Given the description of an element on the screen output the (x, y) to click on. 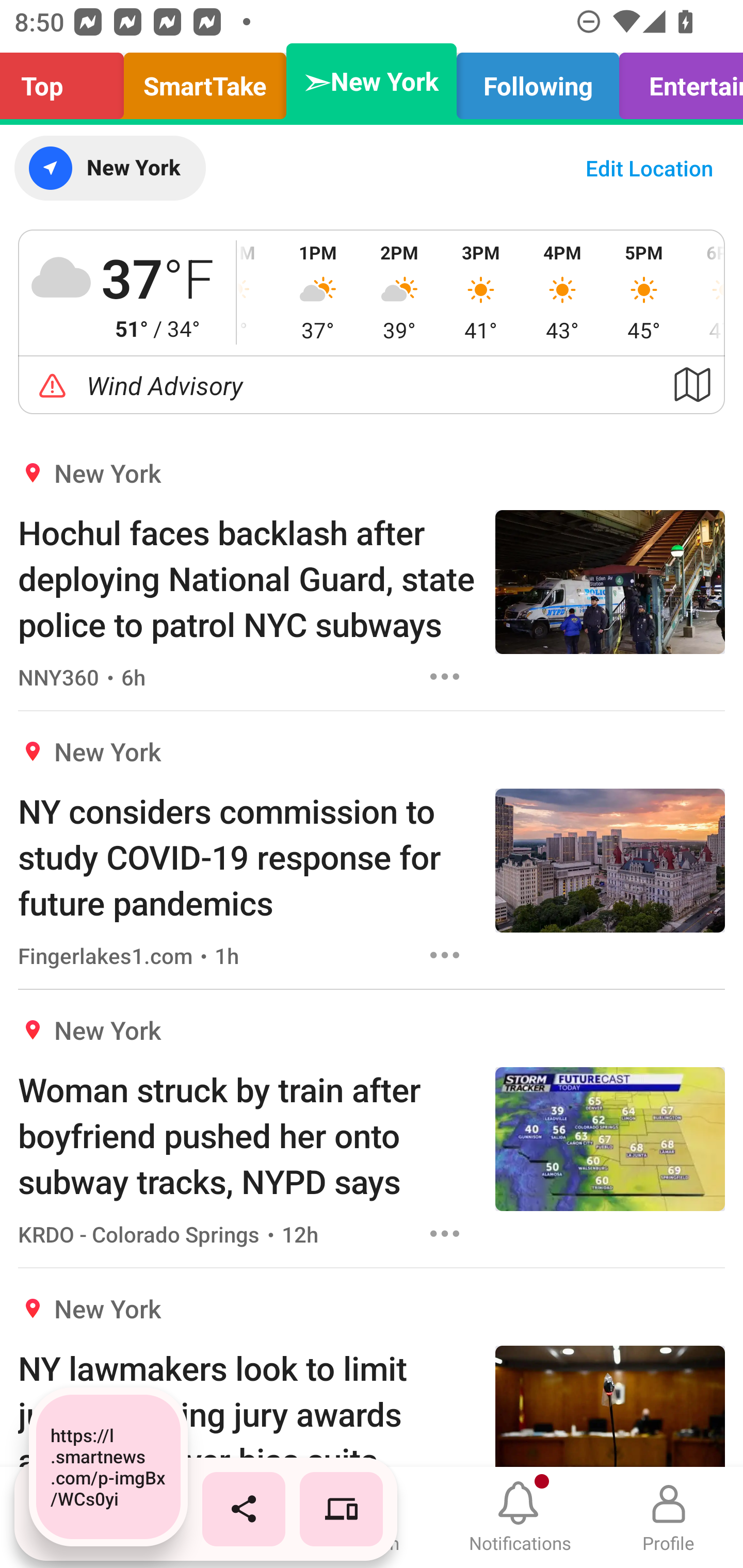
Top (67, 81)
SmartTake (204, 81)
➣New York (371, 81)
Following (537, 81)
New York (109, 168)
Edit Location (648, 168)
1PM 37° (317, 291)
2PM 39° (398, 291)
3PM 41° (480, 291)
4PM 43° (562, 291)
5PM 45° (644, 291)
Wind Advisory (371, 384)
Options (444, 676)
Options (444, 954)
Options (444, 1233)
Local (222, 1517)
Search (371, 1517)
Notifications, New notification Notifications (519, 1517)
Profile (668, 1517)
